Given the description of an element on the screen output the (x, y) to click on. 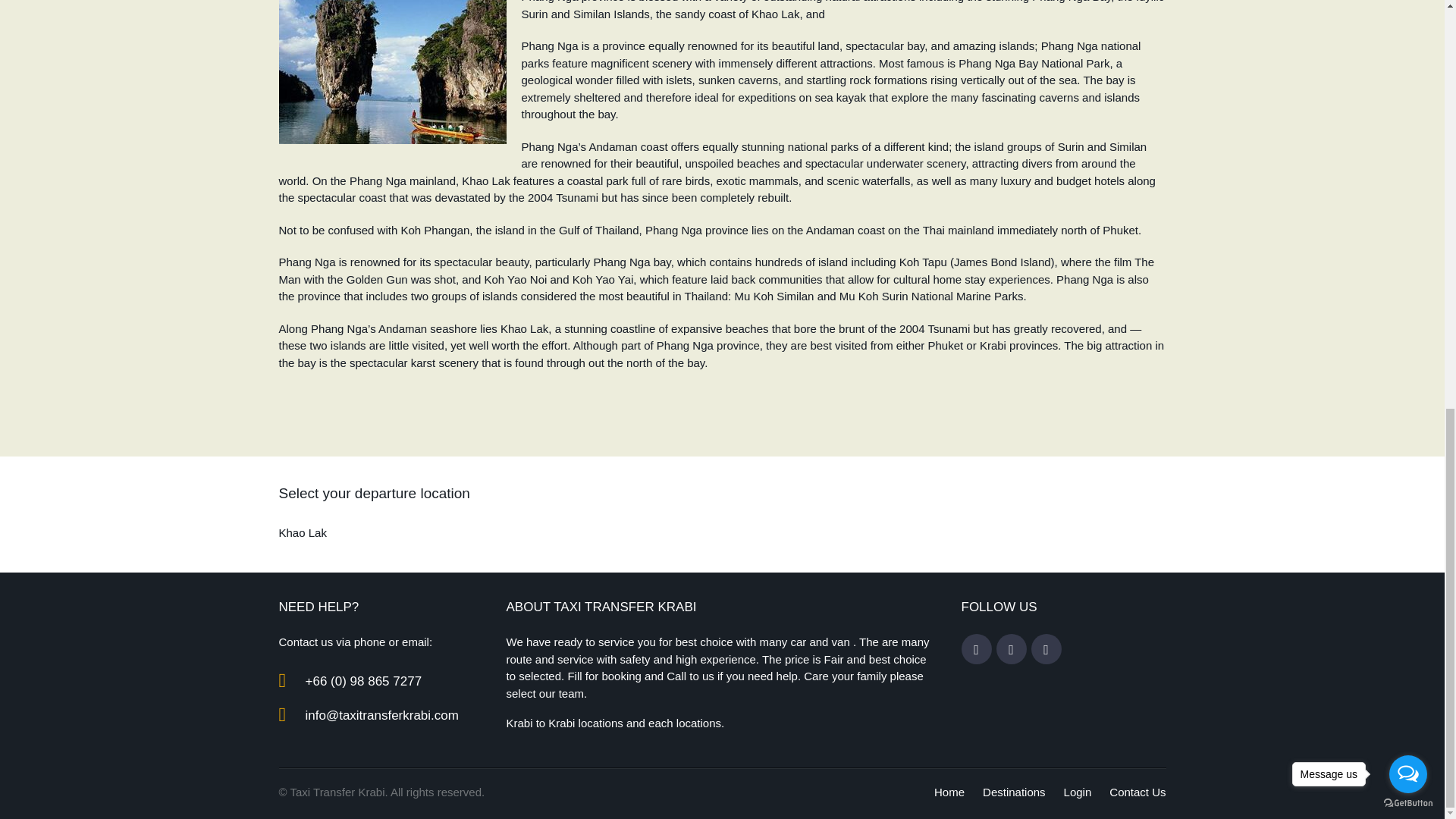
facebook (975, 649)
gplus (1045, 649)
twitter (1010, 649)
